Given the description of an element on the screen output the (x, y) to click on. 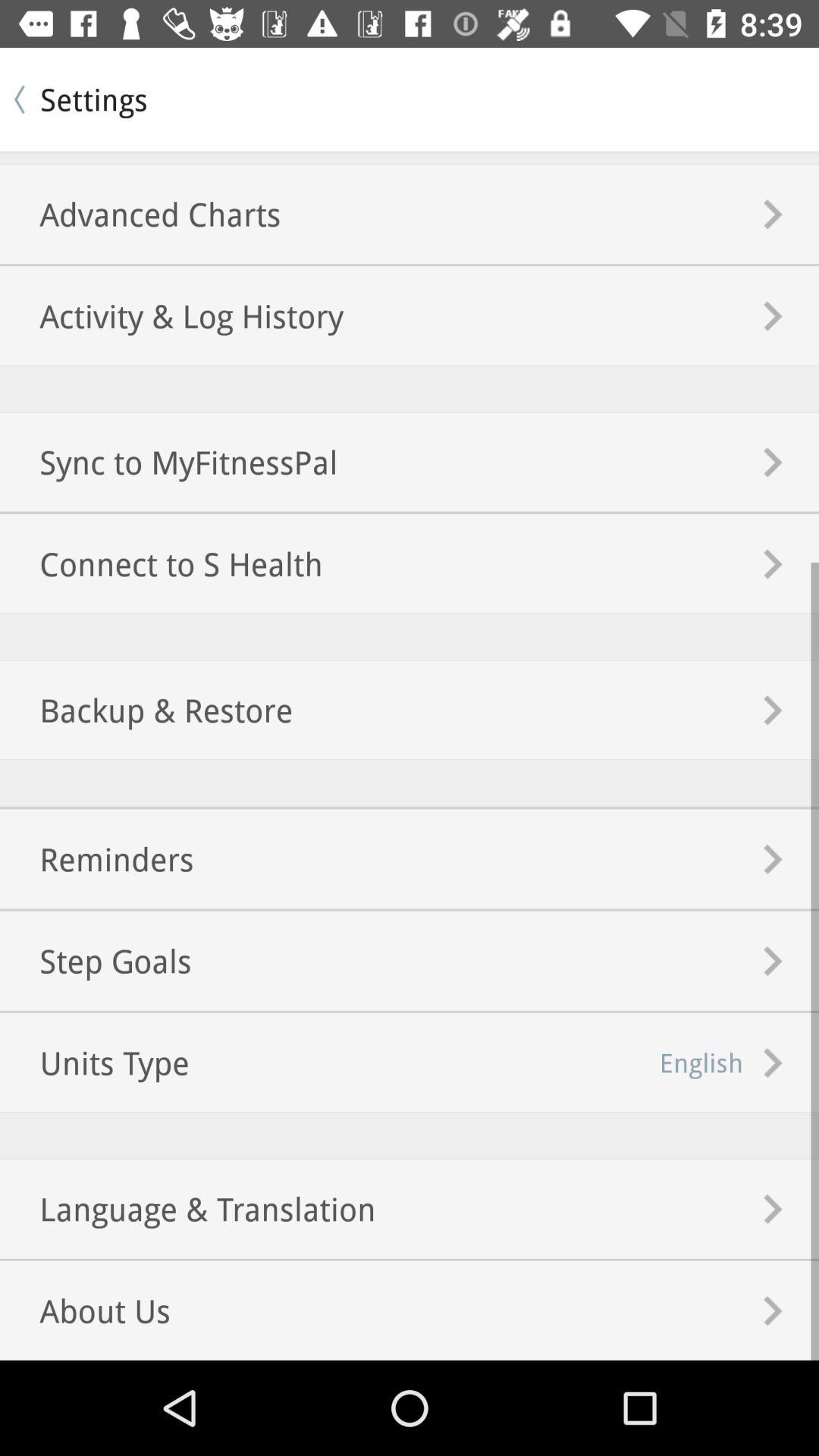
jump to the backup & restore (146, 709)
